Given the description of an element on the screen output the (x, y) to click on. 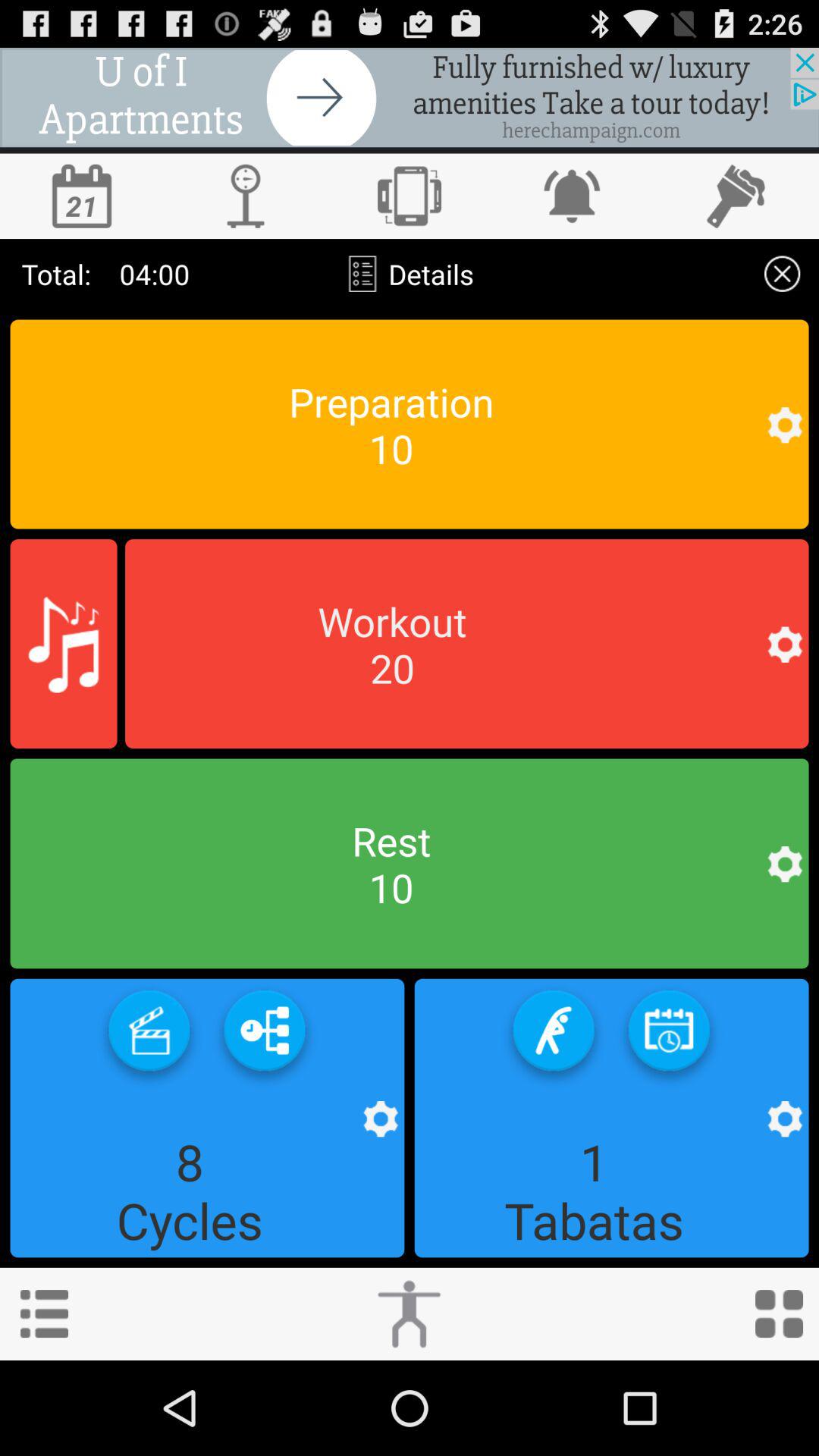
play video (149, 1036)
